Given the description of an element on the screen output the (x, y) to click on. 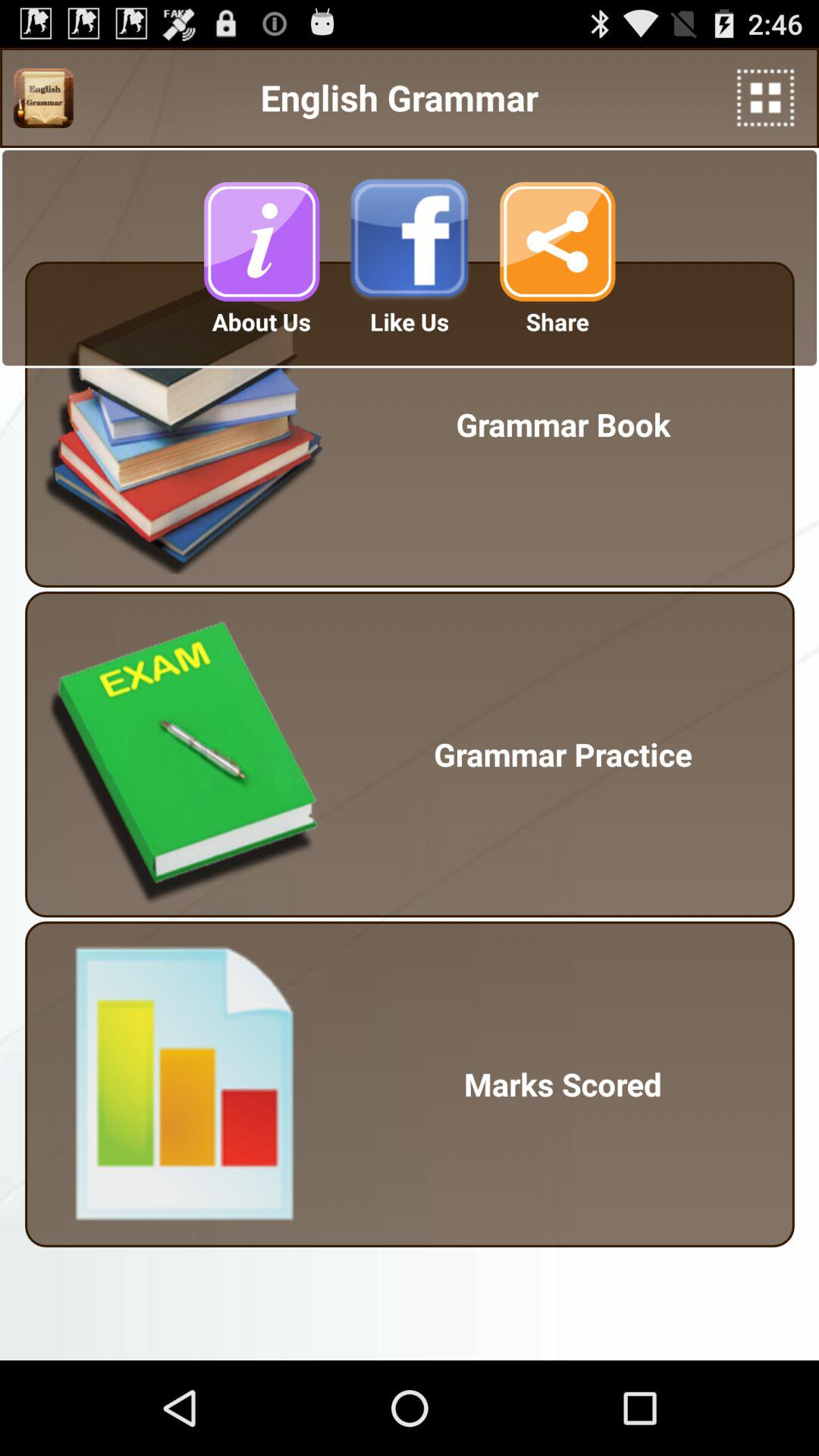
open the item next to english grammar app (43, 97)
